Given the description of an element on the screen output the (x, y) to click on. 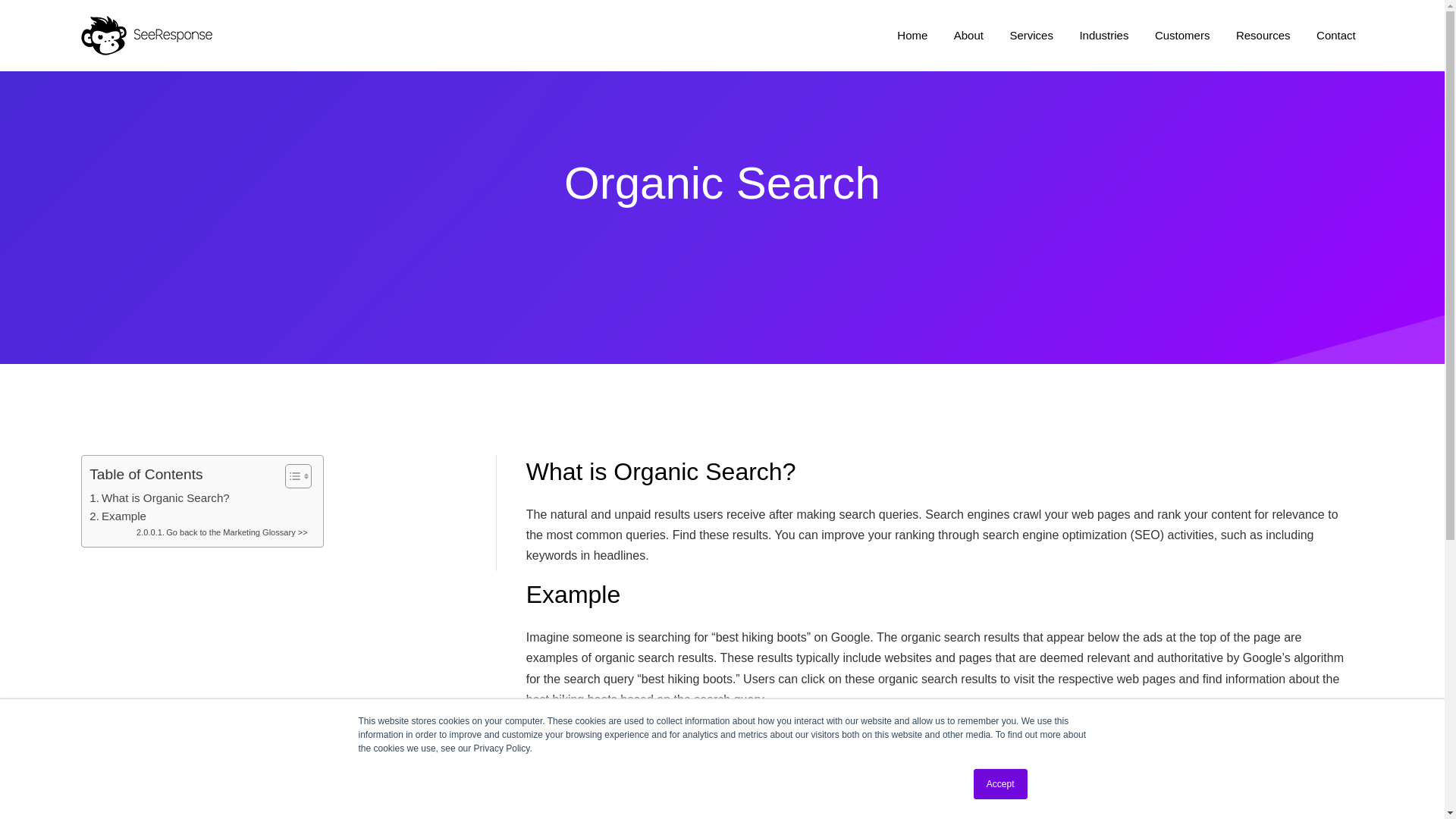
Services (1031, 35)
Example (117, 515)
About (968, 35)
Accept (1000, 784)
Home (911, 35)
What is Organic Search? (159, 497)
Industries (1103, 35)
